Given the description of an element on the screen output the (x, y) to click on. 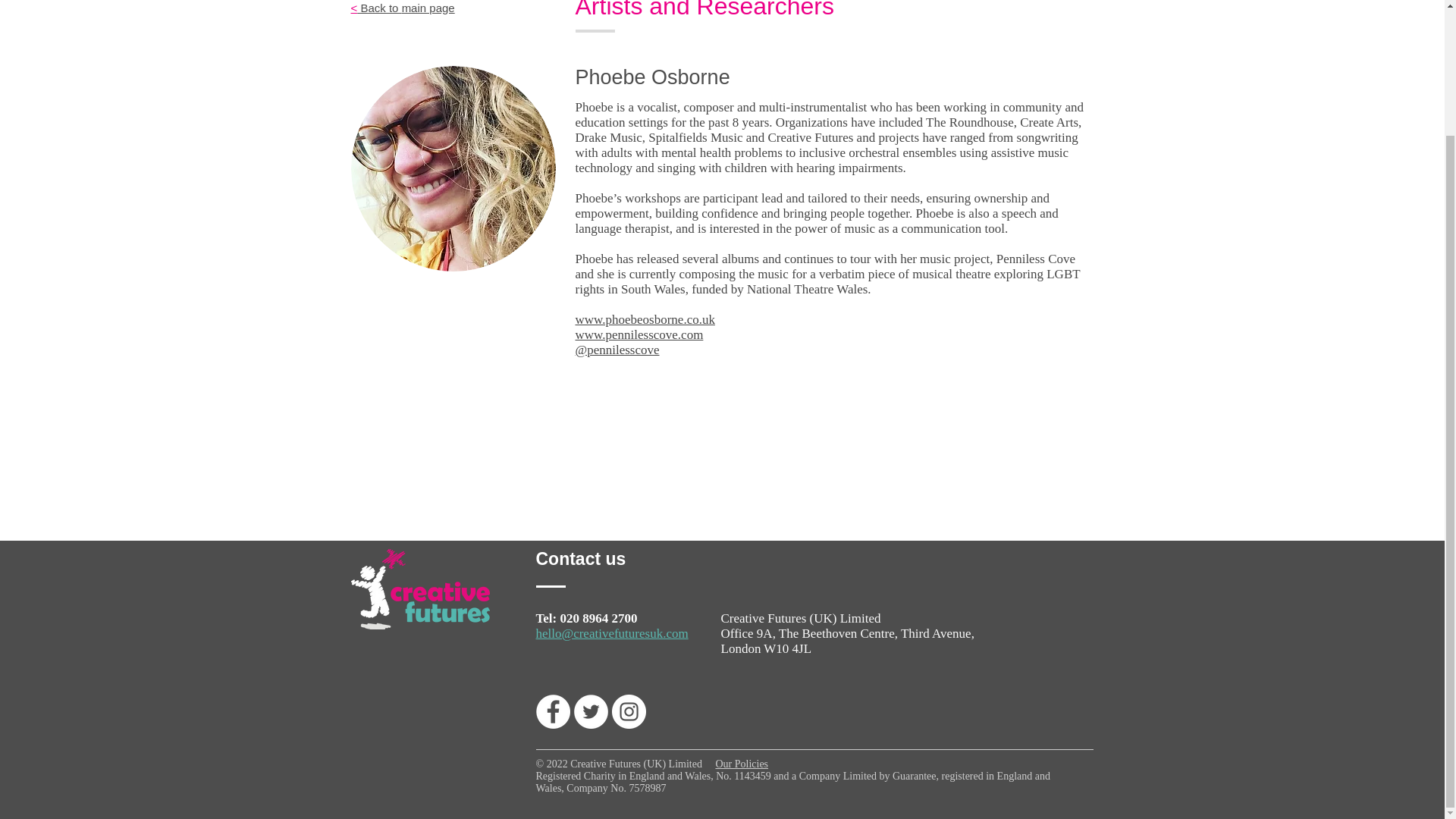
www.pennilesscove.com (639, 334)
guy2.jpg (452, 168)
Our Policies (741, 763)
main page (427, 7)
www.phoebeosborne.co.uk (644, 319)
